Given the description of an element on the screen output the (x, y) to click on. 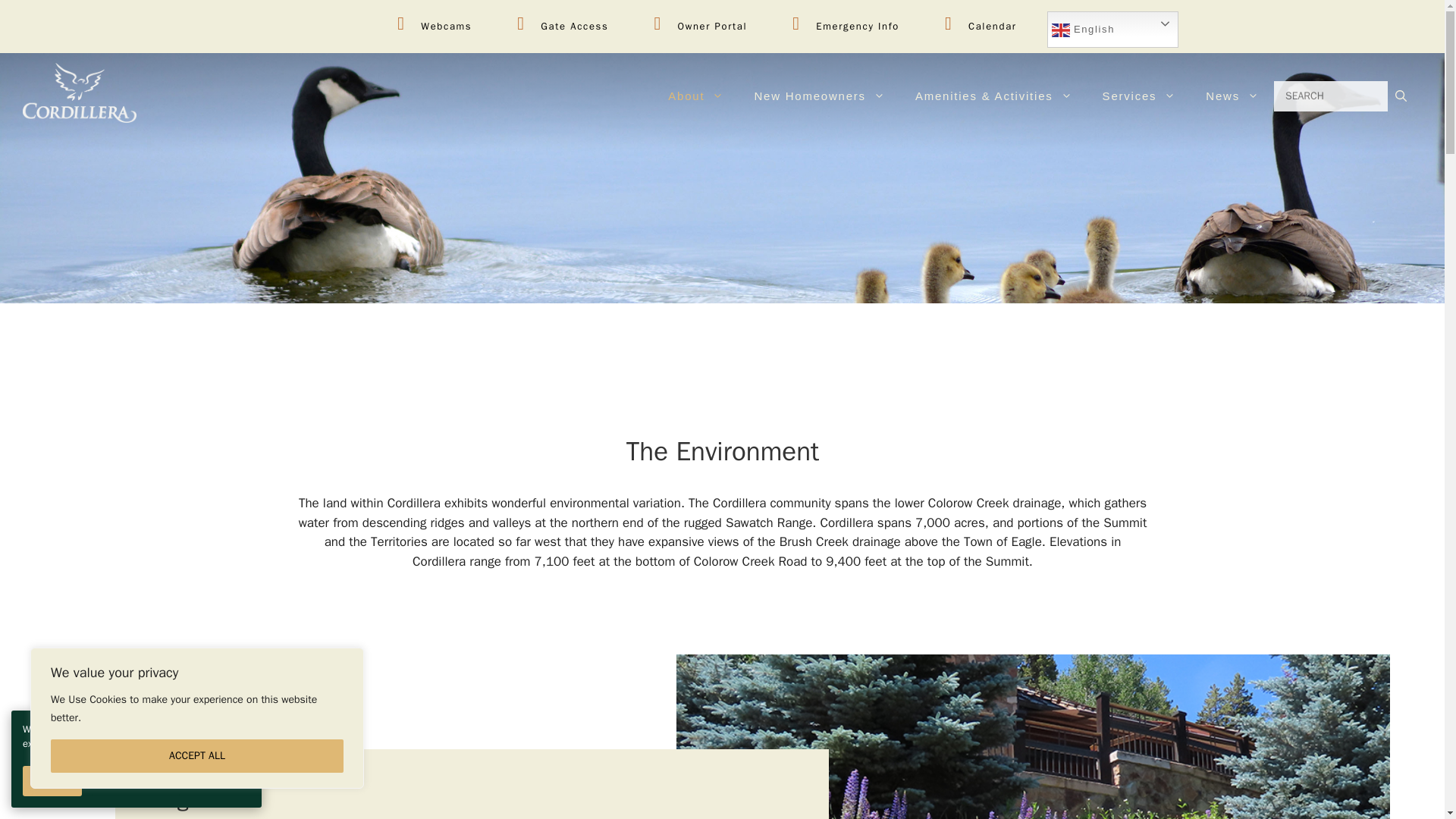
ACCEPT ALL (196, 756)
Gate Access (562, 26)
Webcams (433, 26)
English (1111, 29)
Search (1330, 96)
Calendar (981, 26)
Owner Portal (700, 26)
New Homeowners (818, 95)
About (695, 95)
Emergency Info (845, 26)
